Given the description of an element on the screen output the (x, y) to click on. 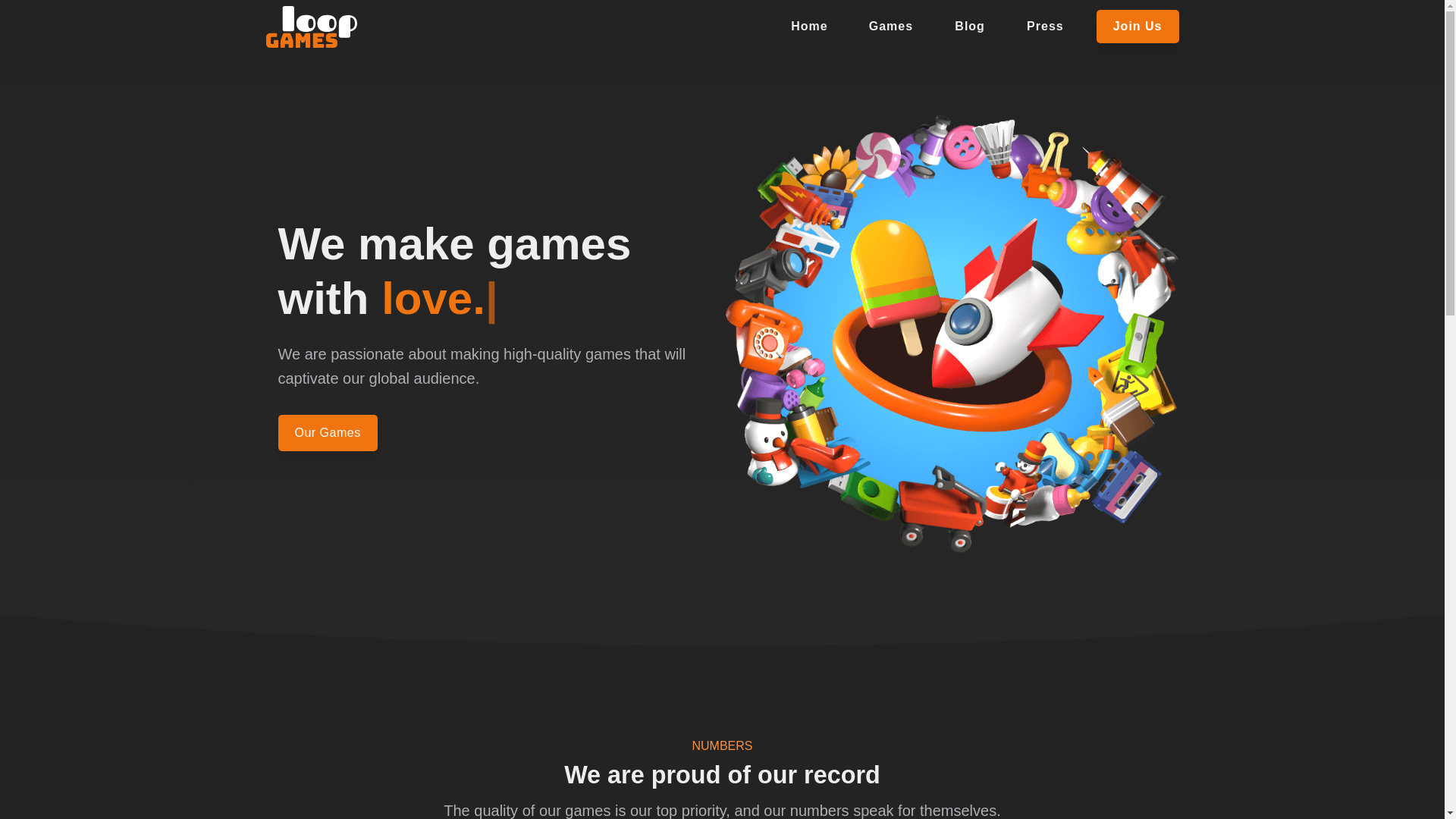
Home (809, 26)
Games (890, 26)
Loop Games (310, 26)
Our Games (327, 432)
Blog (969, 26)
Join Us (1137, 26)
Press (1044, 26)
